Given the description of an element on the screen output the (x, y) to click on. 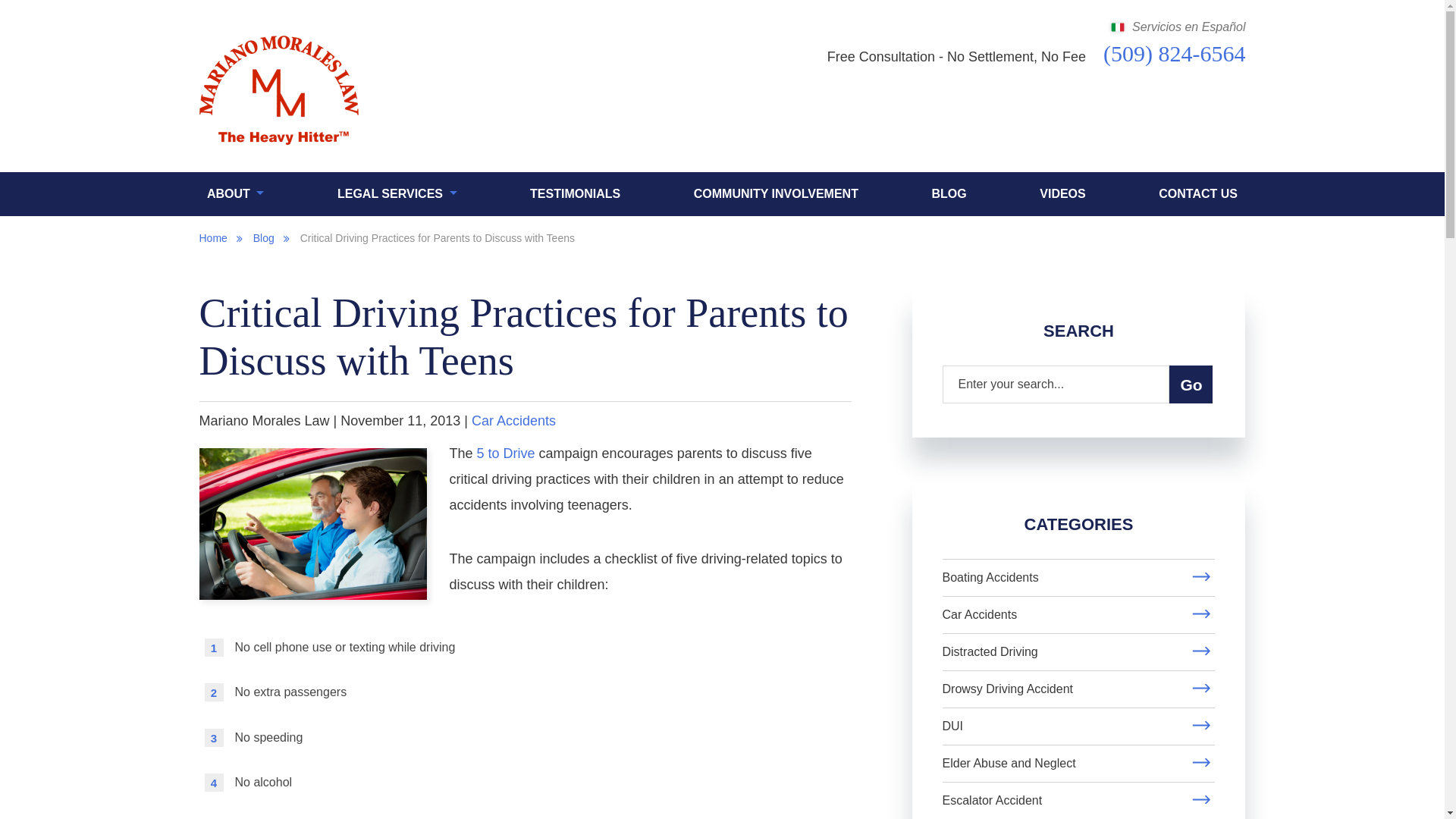
ABOUT (234, 193)
LEGAL SERVICES (397, 193)
Go (1190, 384)
